Given the description of an element on the screen output the (x, y) to click on. 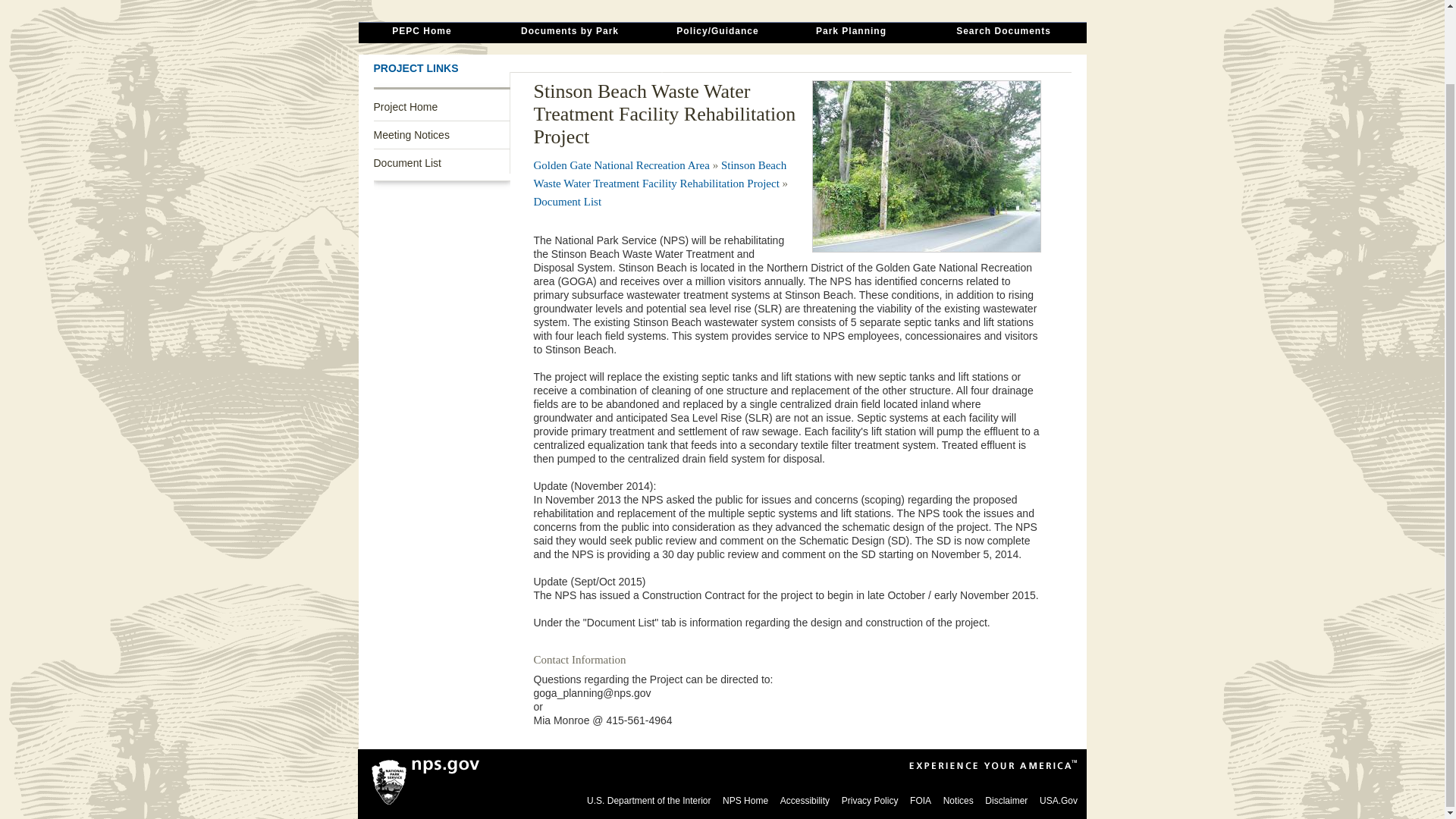
U.S. Department of the Interior (648, 800)
Meeting Notices (440, 134)
Documents by Park (569, 32)
Policy and guidance links (716, 32)
FOIA (920, 800)
Find projects by park  (569, 32)
Disclaimer (1006, 800)
Golden Gate National Recreation Area (622, 164)
Find projects by search (850, 32)
USA.Gov (1058, 800)
PEPC Home (421, 32)
Search Documents (1003, 32)
